Given the description of an element on the screen output the (x, y) to click on. 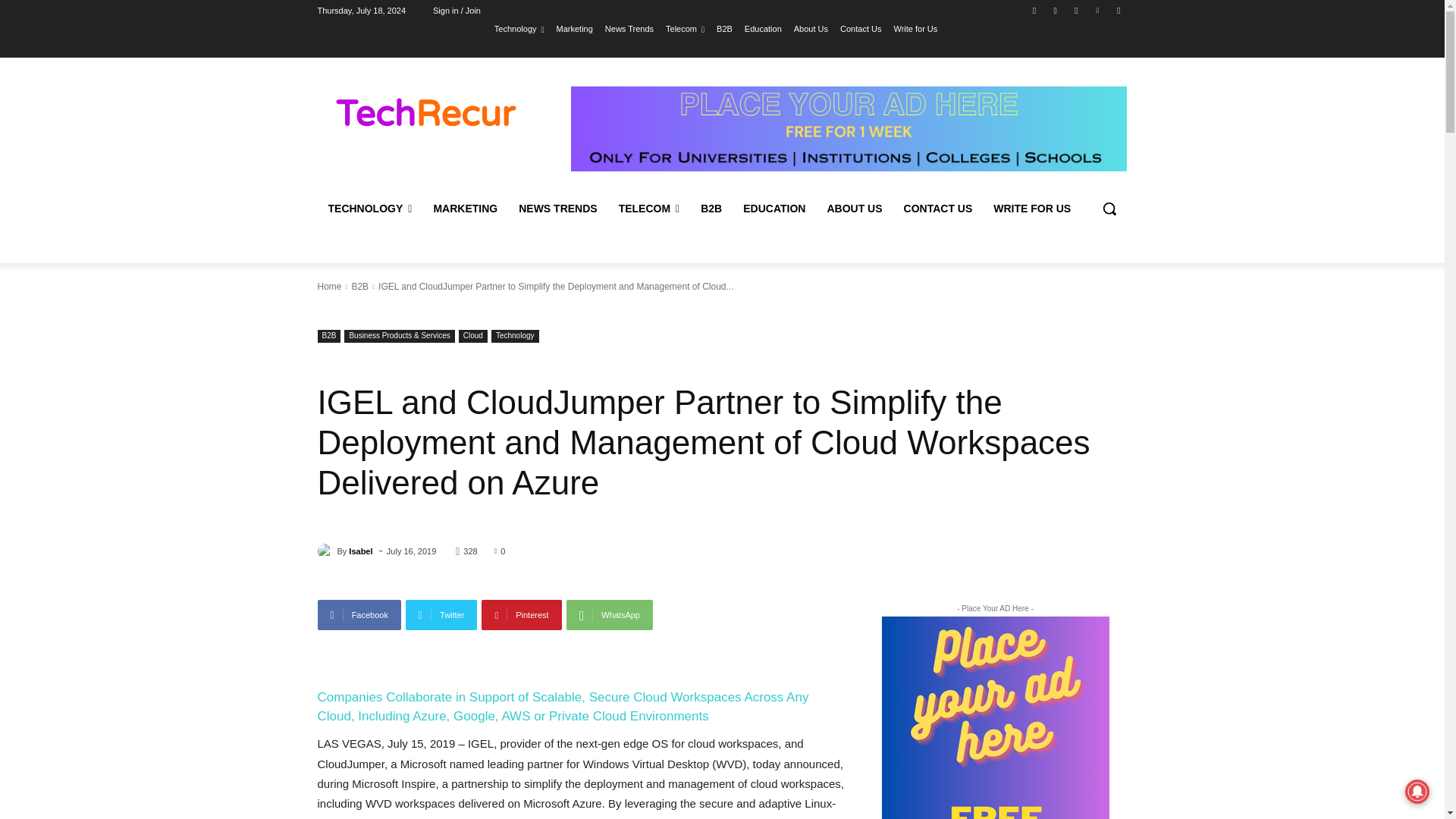
Facebook (1034, 9)
Isabel (326, 550)
News Trends (629, 28)
Marketing (574, 28)
Vimeo (1097, 9)
Telecom (684, 28)
Twitter (441, 614)
View all posts in B2B (359, 286)
Youtube (1117, 9)
Technology (519, 28)
Instagram (1055, 9)
Facebook (358, 614)
Twitter (1075, 9)
